Given the description of an element on the screen output the (x, y) to click on. 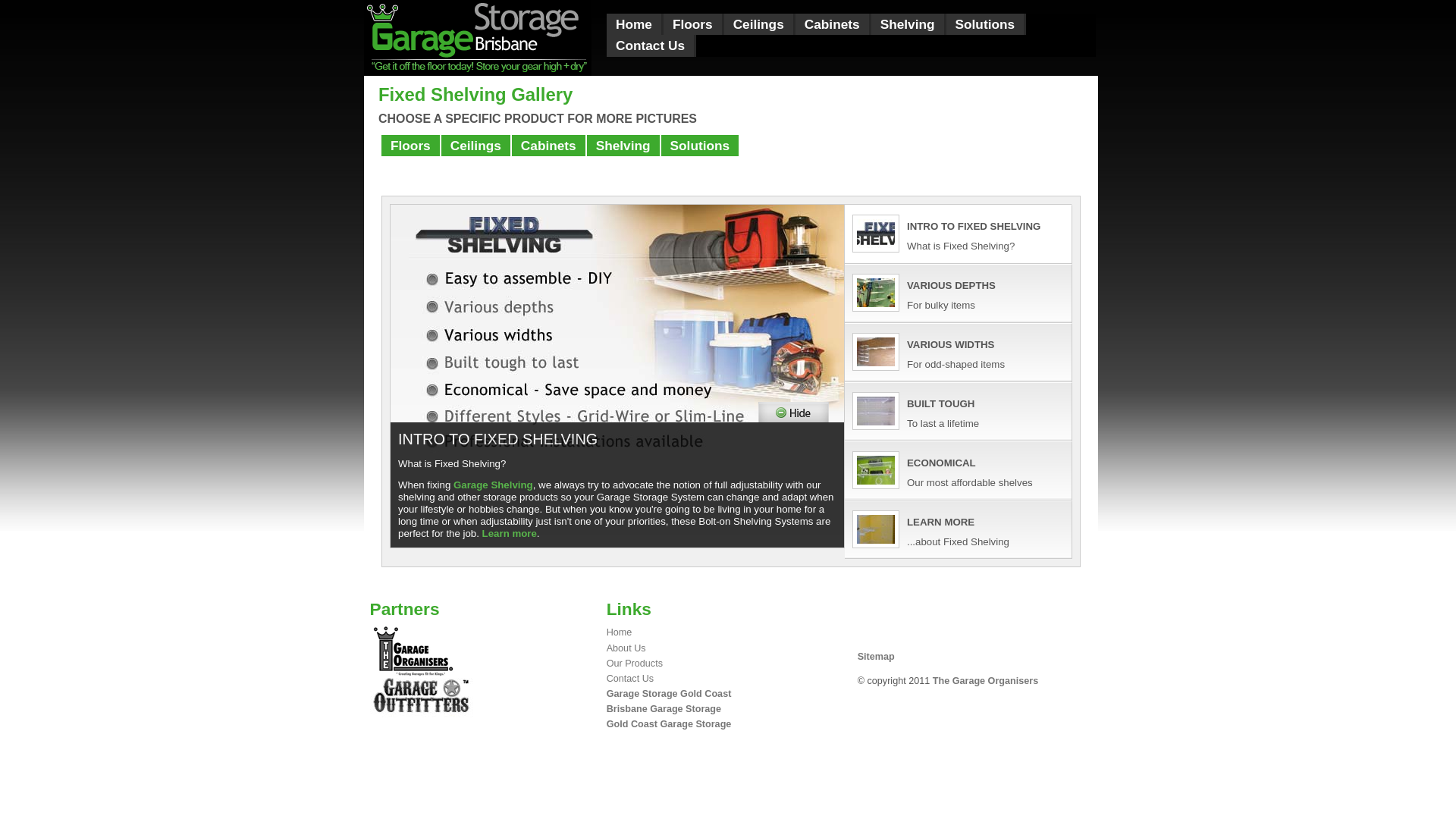
Contact Us Element type: text (650, 45)
Gold Coast Garage Storage Element type: text (668, 723)
About Us Element type: text (626, 648)
Learn more Element type: text (509, 533)
Ceilings Element type: text (475, 145)
Our Products Element type: text (634, 663)
Solutions Element type: text (700, 145)
The Garage Organisers Element type: text (985, 680)
Floors Element type: text (692, 23)
Home Element type: text (634, 23)
Go back to Homepage Element type: hover (477, 72)
Solutions Element type: text (985, 23)
Garage Storage Gold Coast Element type: text (668, 693)
Floors Element type: text (410, 145)
Home Element type: text (619, 632)
Close Me! Element type: text (793, 411)
The Garage Organisers Element type: hover (412, 650)
Brisbane Garage Storage Element type: text (663, 708)
Cabinets Element type: text (832, 23)
Cabinets Element type: text (548, 145)
Garage Shelving Element type: text (493, 484)
Shelving Element type: text (622, 145)
Contact Us Element type: text (629, 678)
Garage Outfitters Element type: hover (423, 697)
Sitemap Element type: text (875, 656)
Ceilings Element type: text (758, 23)
Shelving Element type: text (907, 23)
